Given the description of an element on the screen output the (x, y) to click on. 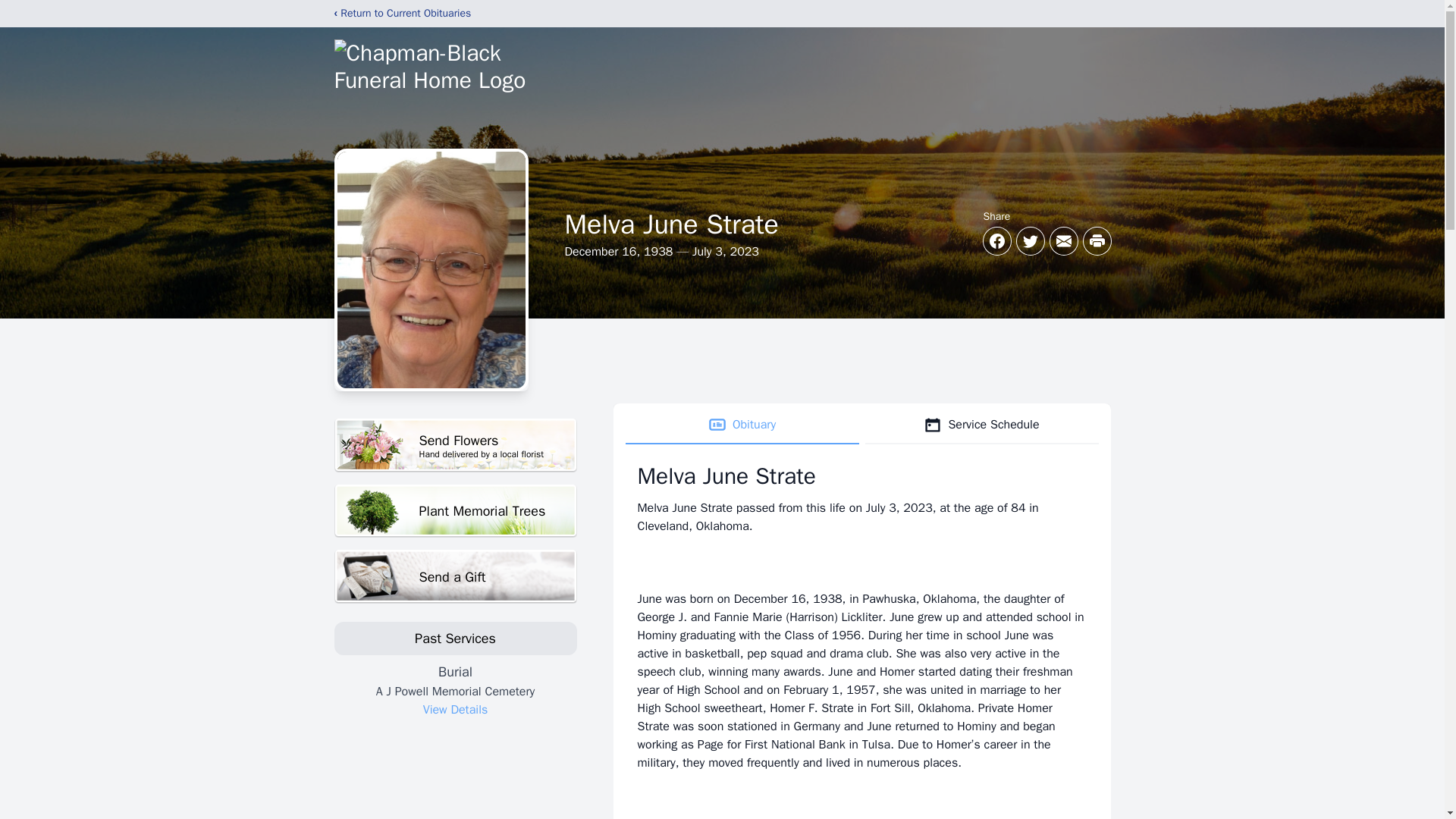
Send a Gift (454, 576)
View Details (455, 709)
Service Schedule (980, 425)
Plant Memorial Trees (454, 511)
Obituary (741, 425)
